Given the description of an element on the screen output the (x, y) to click on. 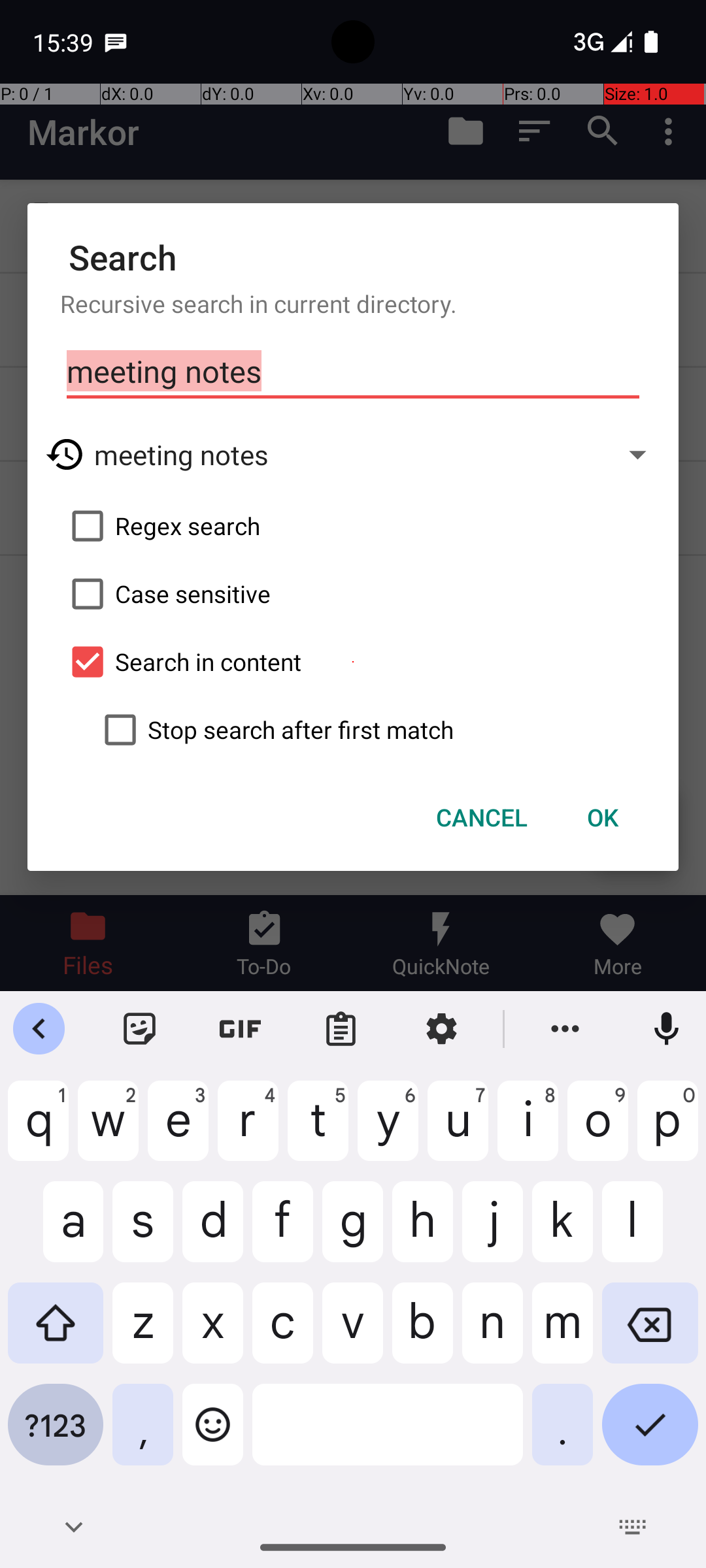
Recursive search in current directory. Element type: android.widget.TextView (352, 303)
meeting notes Element type: android.widget.EditText (352, 371)
Regex search Element type: android.widget.CheckBox (352, 525)
Case sensitive Element type: android.widget.CheckBox (352, 593)
Search in content Element type: android.widget.CheckBox (352, 661)
Stop search after first match Element type: android.widget.CheckBox (368, 729)
15:39 Element type: android.widget.TextView (64, 41)
